Given the description of an element on the screen output the (x, y) to click on. 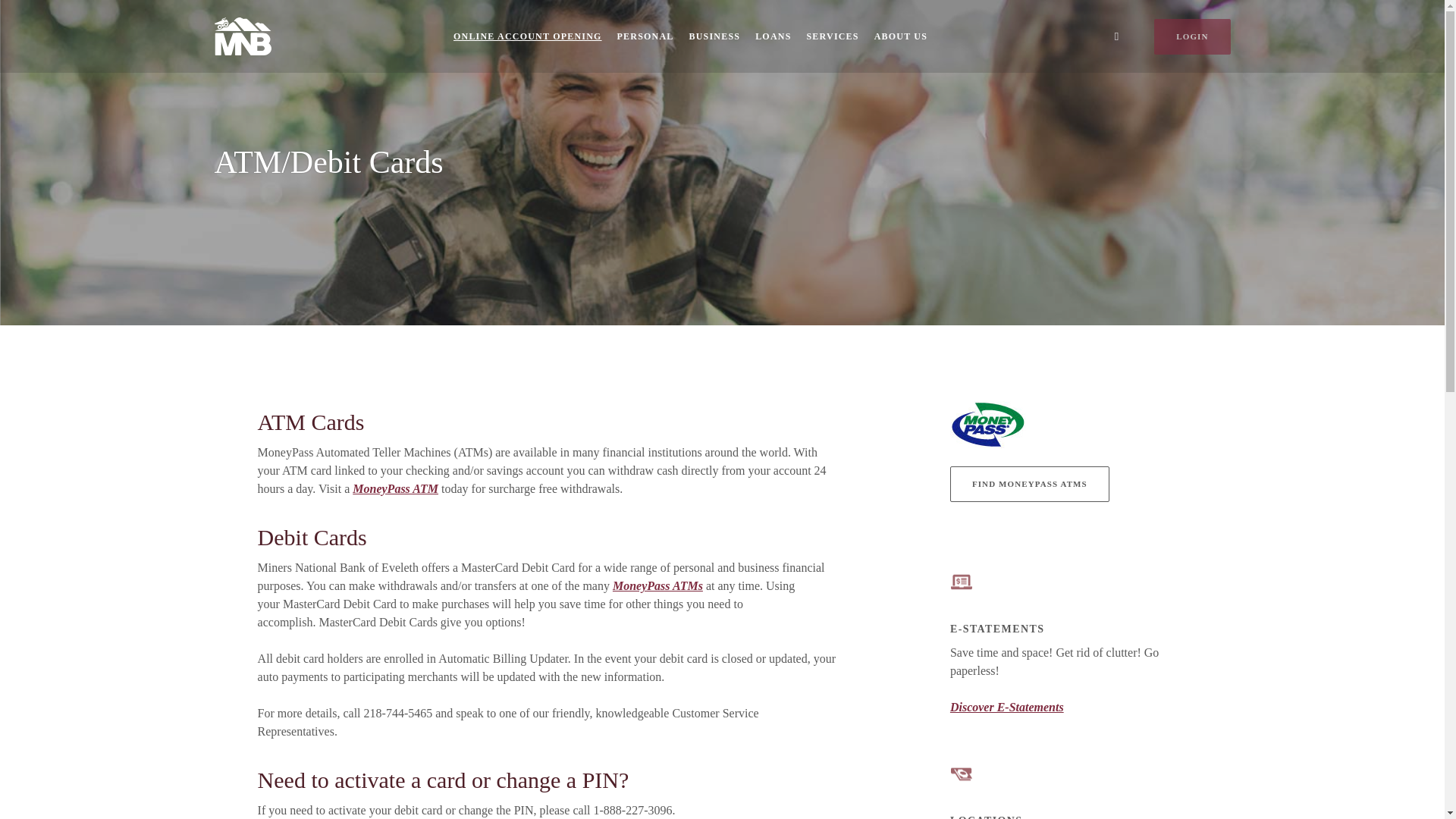
LOGIN (1192, 36)
Miners National Bank, Eveleth, MN (242, 36)
